Given the description of an element on the screen output the (x, y) to click on. 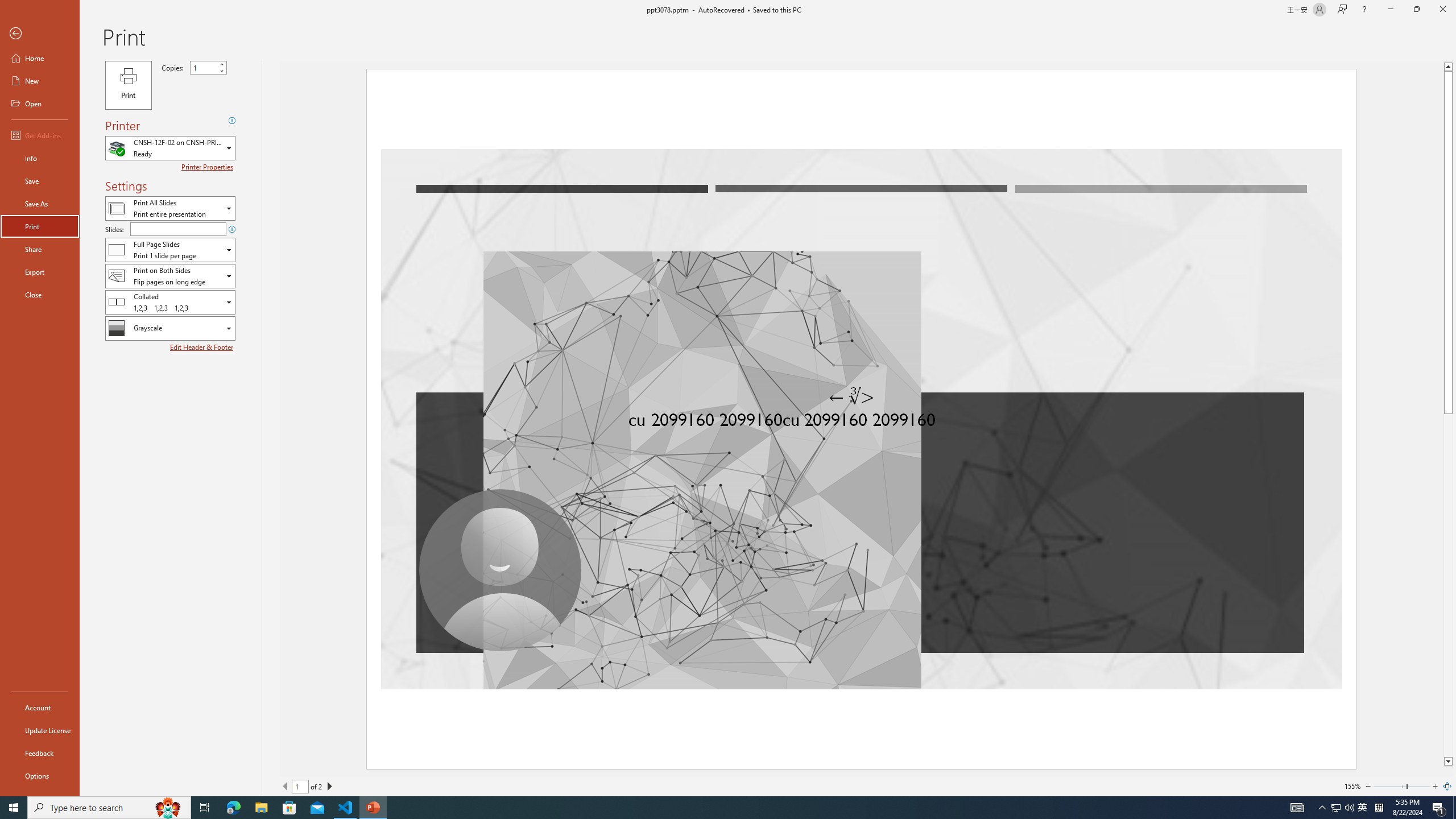
Previous Page (285, 786)
Print (40, 225)
Update License (40, 730)
Current Page (300, 786)
